Given the description of an element on the screen output the (x, y) to click on. 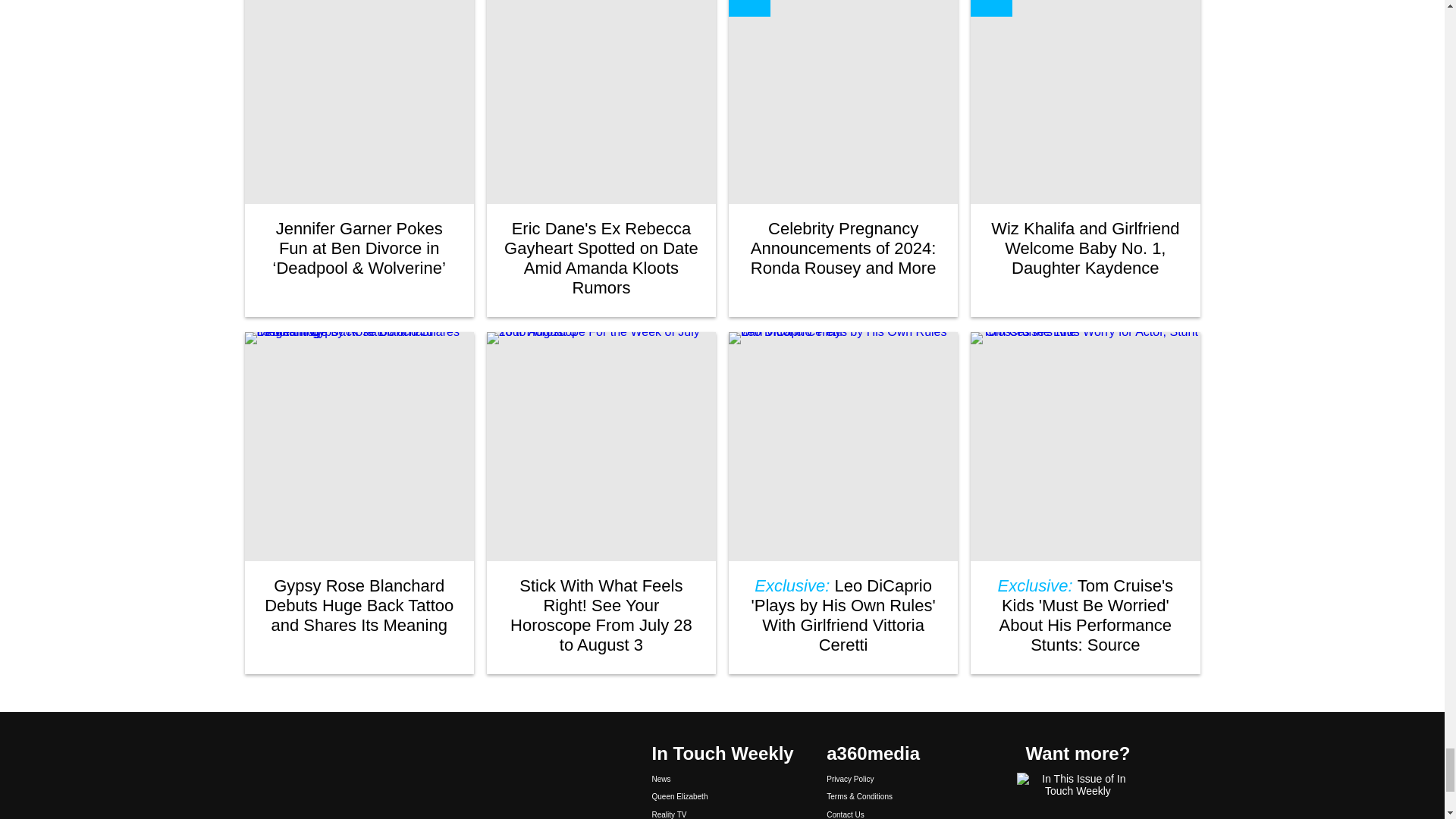
Home (434, 771)
